Given the description of an element on the screen output the (x, y) to click on. 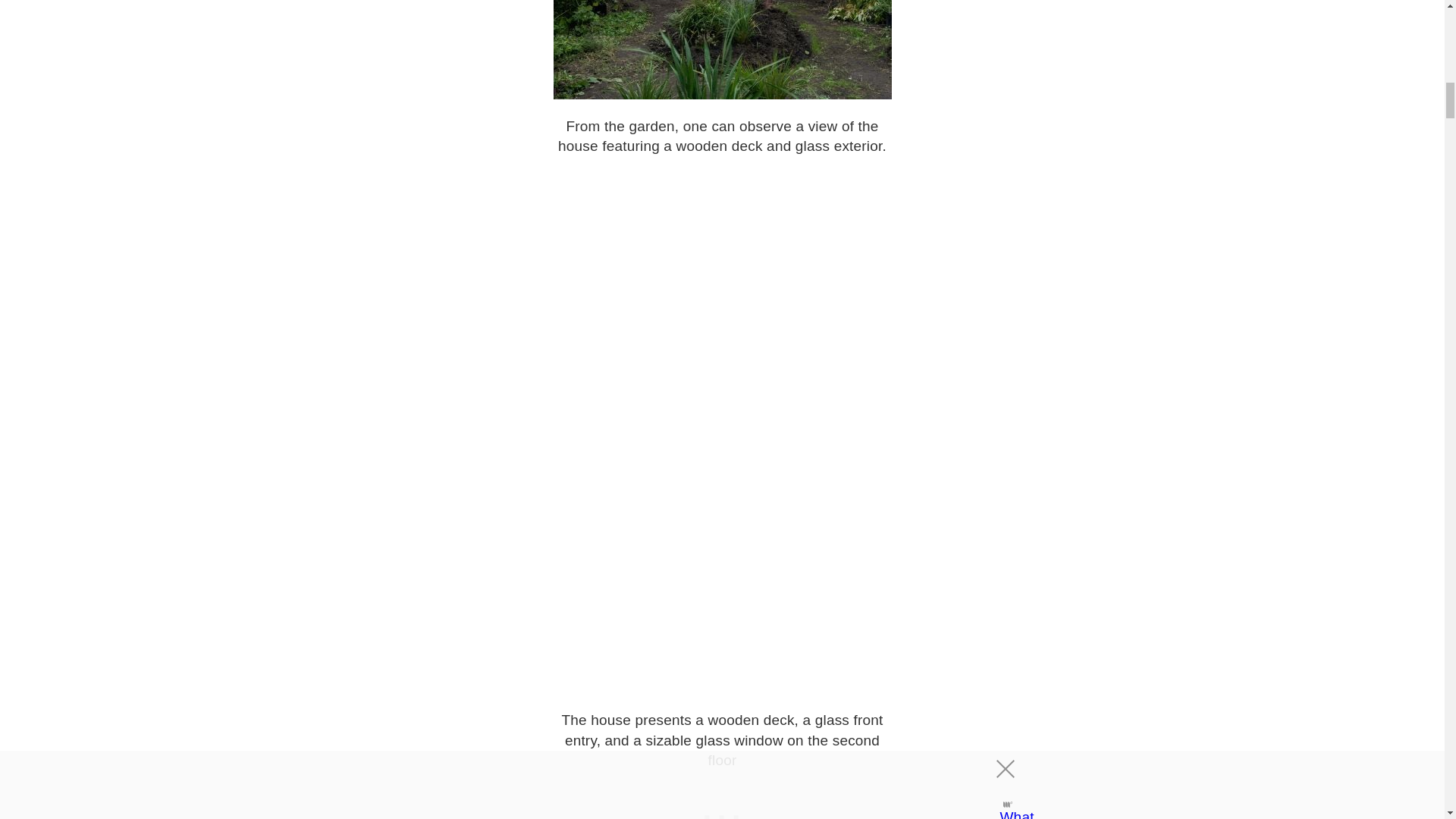
3rd party ad content (721, 807)
